Given the description of an element on the screen output the (x, y) to click on. 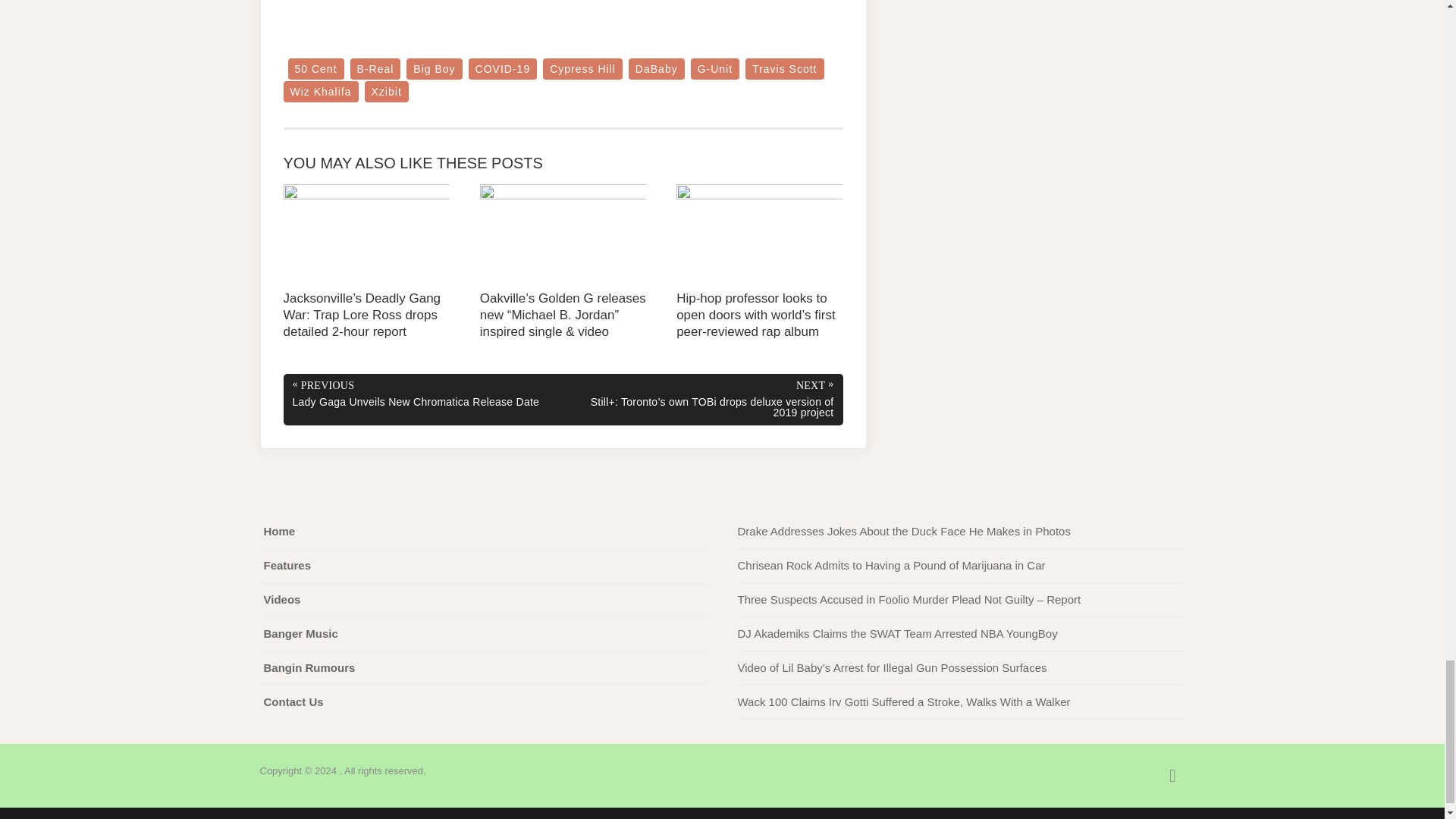
B-Real (375, 68)
Travis Scott (784, 68)
50 Cent (315, 68)
Features (287, 565)
Home (279, 531)
G-Unit (714, 68)
Banger Music (300, 633)
Cypress Hill (583, 68)
COVID-19 (502, 68)
Xzibit (387, 91)
